Given the description of an element on the screen output the (x, y) to click on. 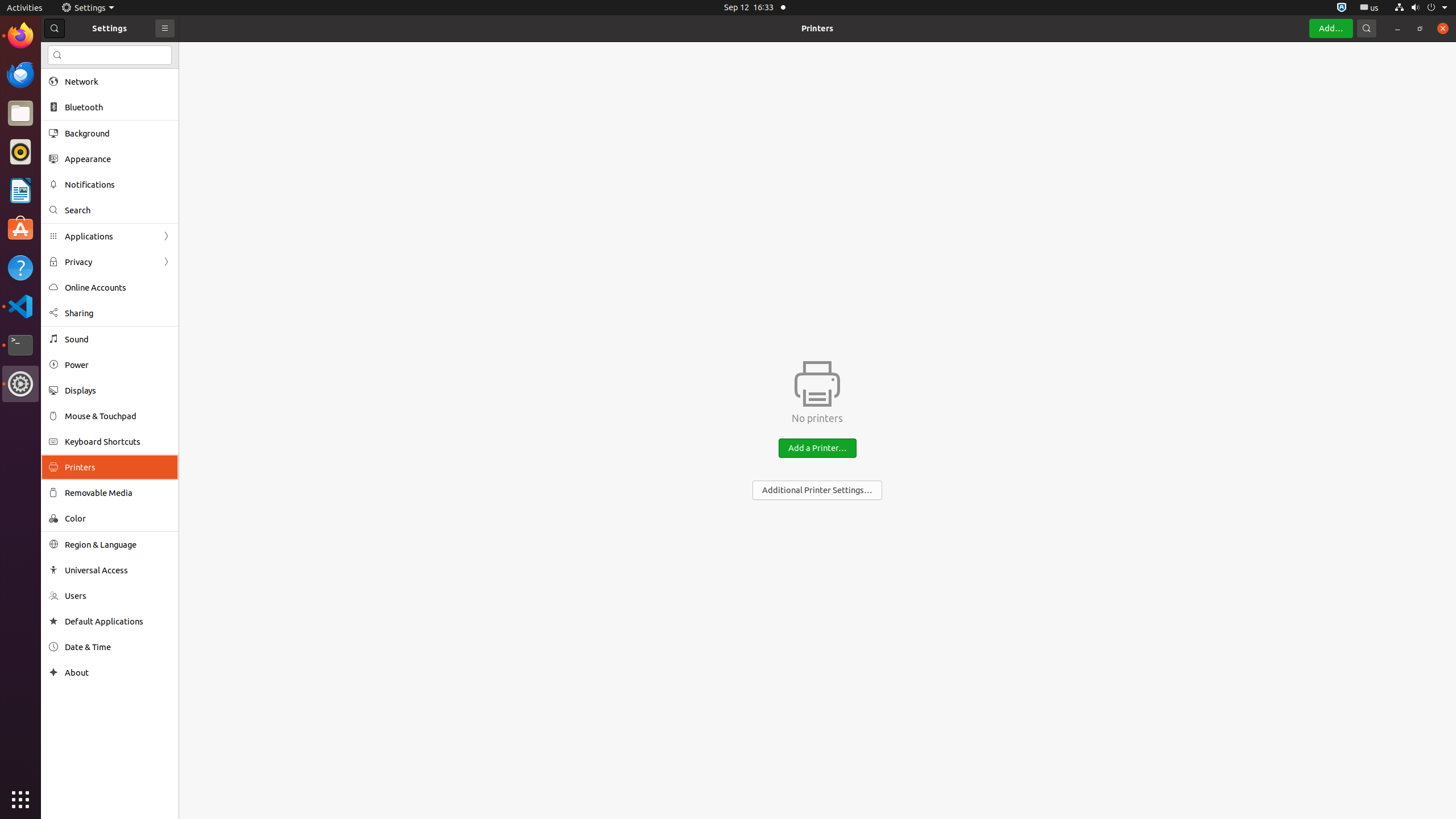
Keyboard Shortcuts Element type: label (117, 441)
Primary Menu Element type: toggle-button (164, 28)
Power Element type: label (117, 364)
Appearance Element type: label (117, 158)
